Given the description of an element on the screen output the (x, y) to click on. 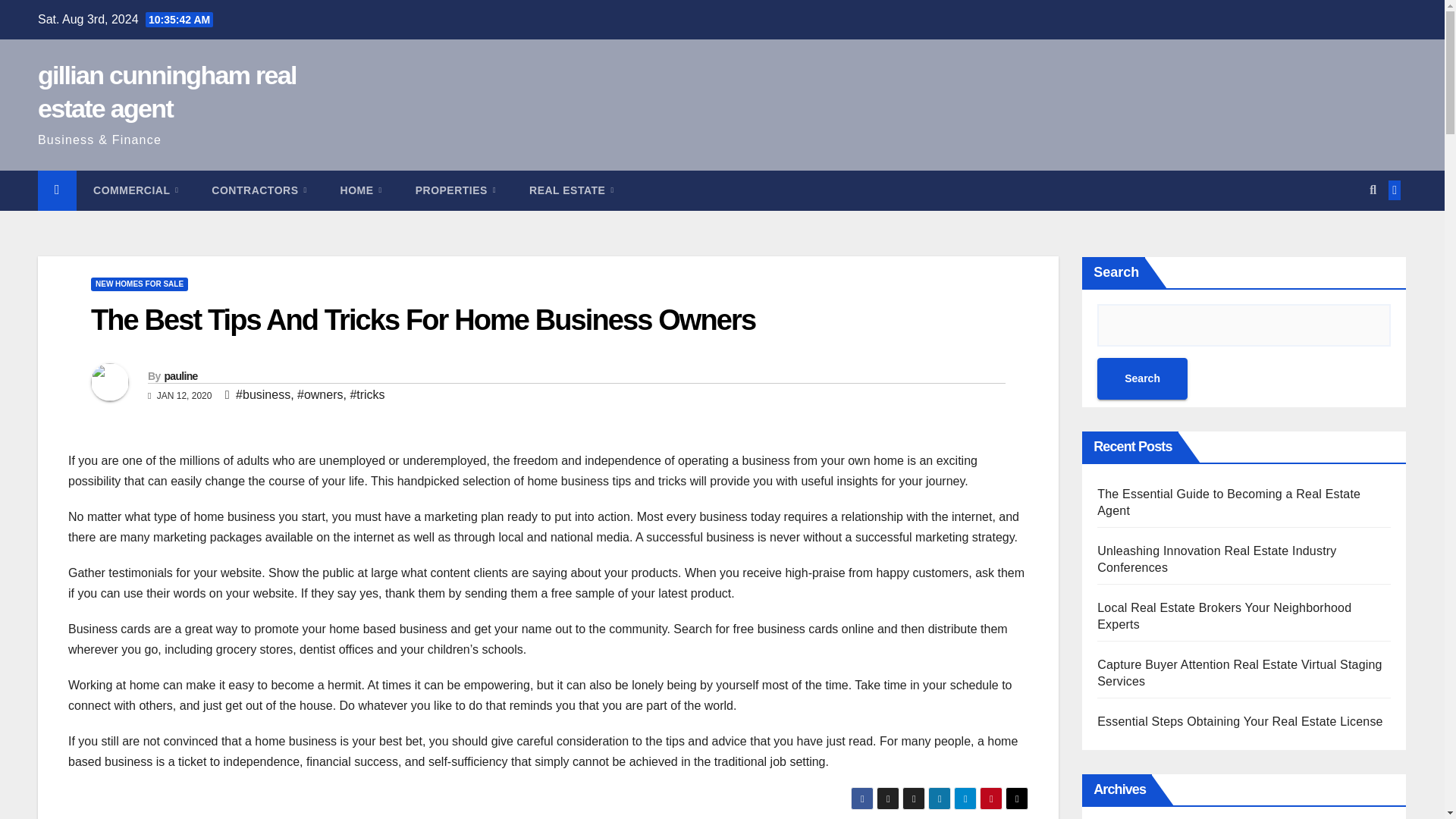
CONTRACTORS (259, 189)
HOME (360, 189)
gillian cunningham real estate agent (167, 91)
Commercial (136, 189)
NEW HOMES FOR SALE (138, 284)
The Best Tips And Tricks For Home Business Owners (422, 319)
PROPERTIES (455, 189)
COMMERCIAL (136, 189)
pauline (179, 376)
REAL ESTATE (571, 189)
Home (360, 189)
Contractors (259, 189)
